Given the description of an element on the screen output the (x, y) to click on. 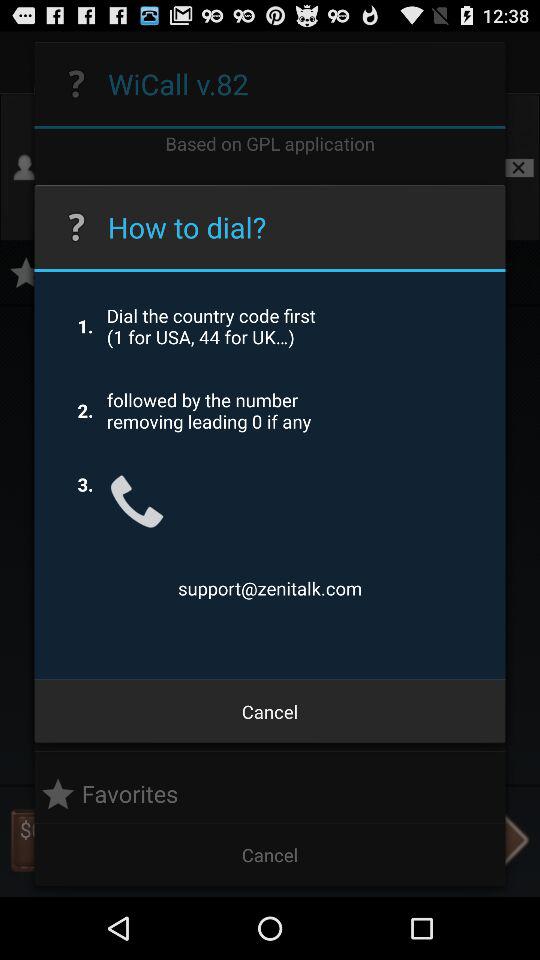
scroll until cancel button (269, 711)
